Given the description of an element on the screen output the (x, y) to click on. 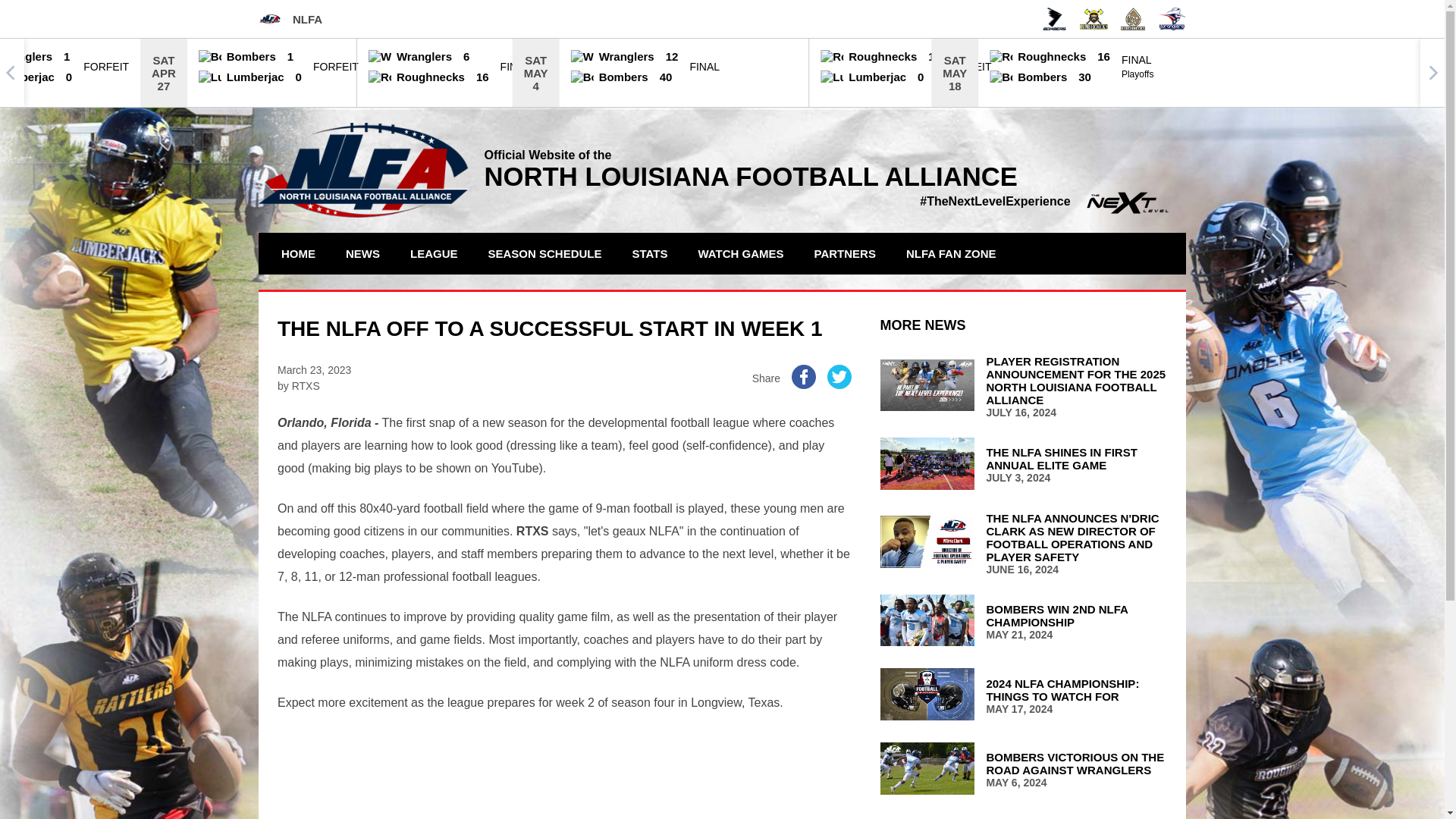
NEWS (362, 253)
WATCH GAMES (740, 253)
HOME (297, 253)
NLFA (290, 18)
